Given the description of an element on the screen output the (x, y) to click on. 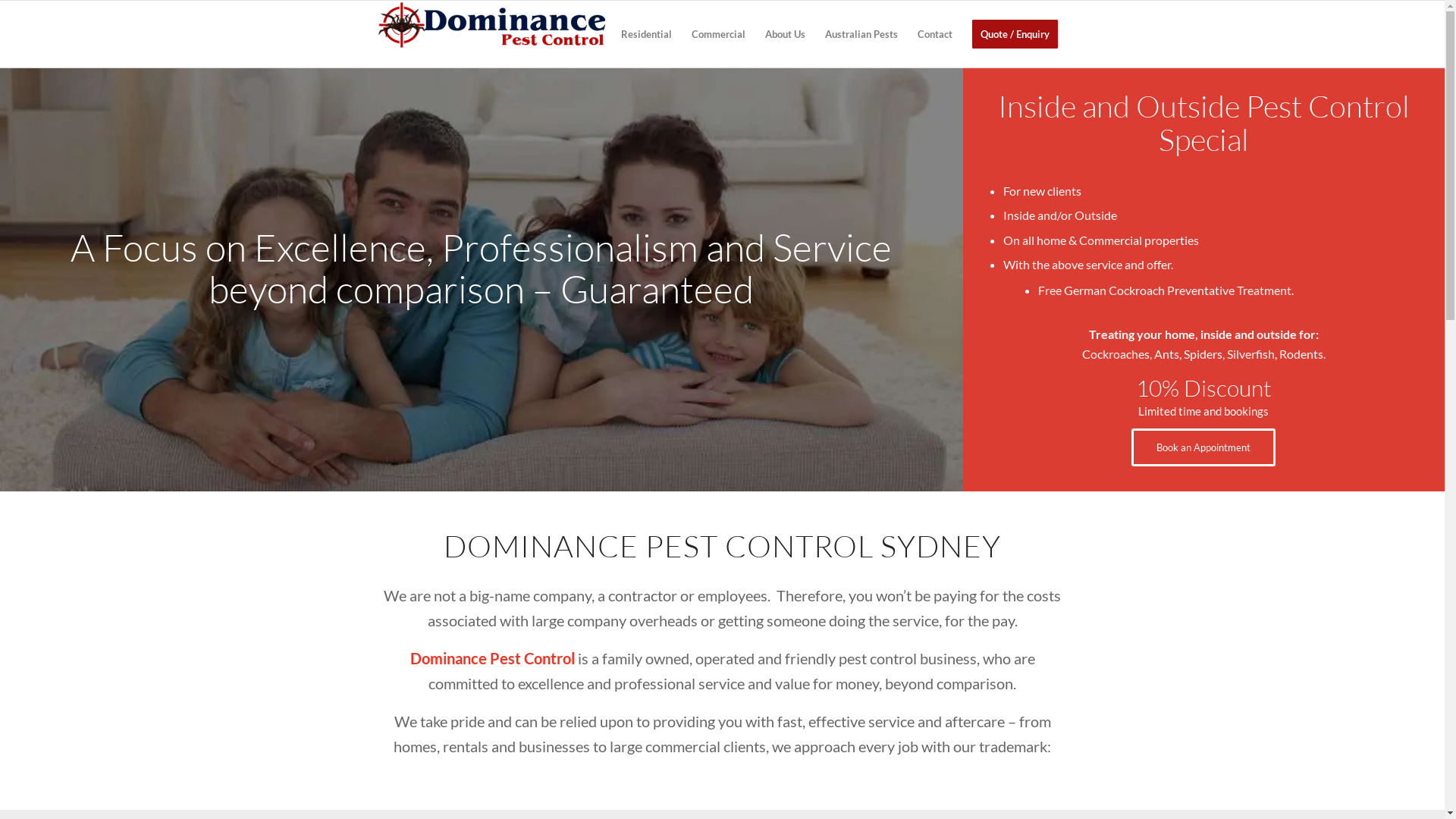
Commercial Element type: text (717, 33)
Quote / Enquiry Element type: text (1013, 33)
Book an Appointment Element type: text (1203, 447)
About Us Element type: text (785, 33)
Australian Pests Element type: text (860, 33)
Residential Element type: text (646, 33)
Contact Element type: text (933, 33)
